Given the description of an element on the screen output the (x, y) to click on. 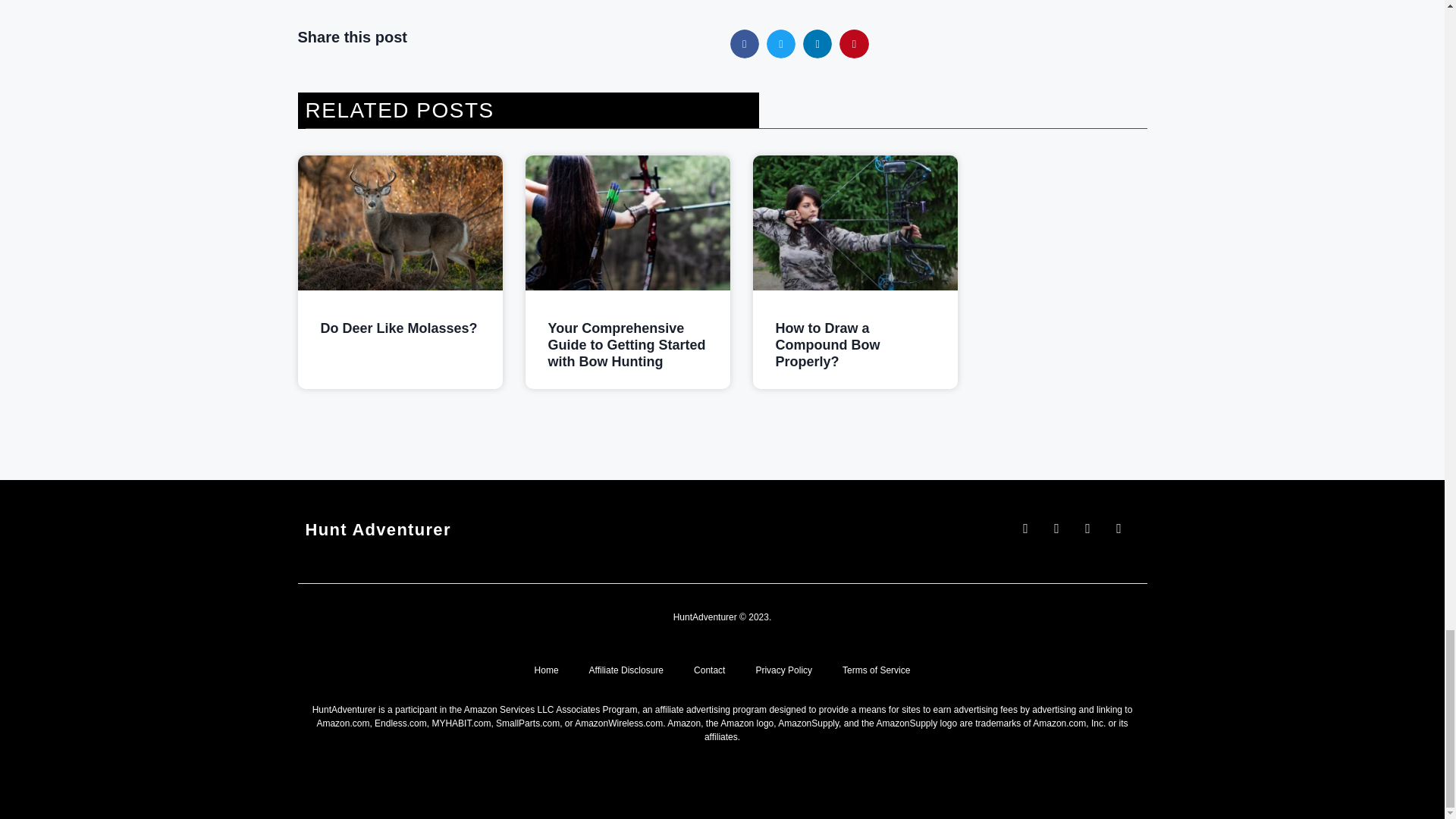
Your Comprehensive Guide to Getting Started with Bow Hunting (625, 344)
Do Deer Like Molasses? (398, 328)
How to Draw a Compound Bow Properly? (826, 344)
Hunt Adventurer (376, 529)
